Given the description of an element on the screen output the (x, y) to click on. 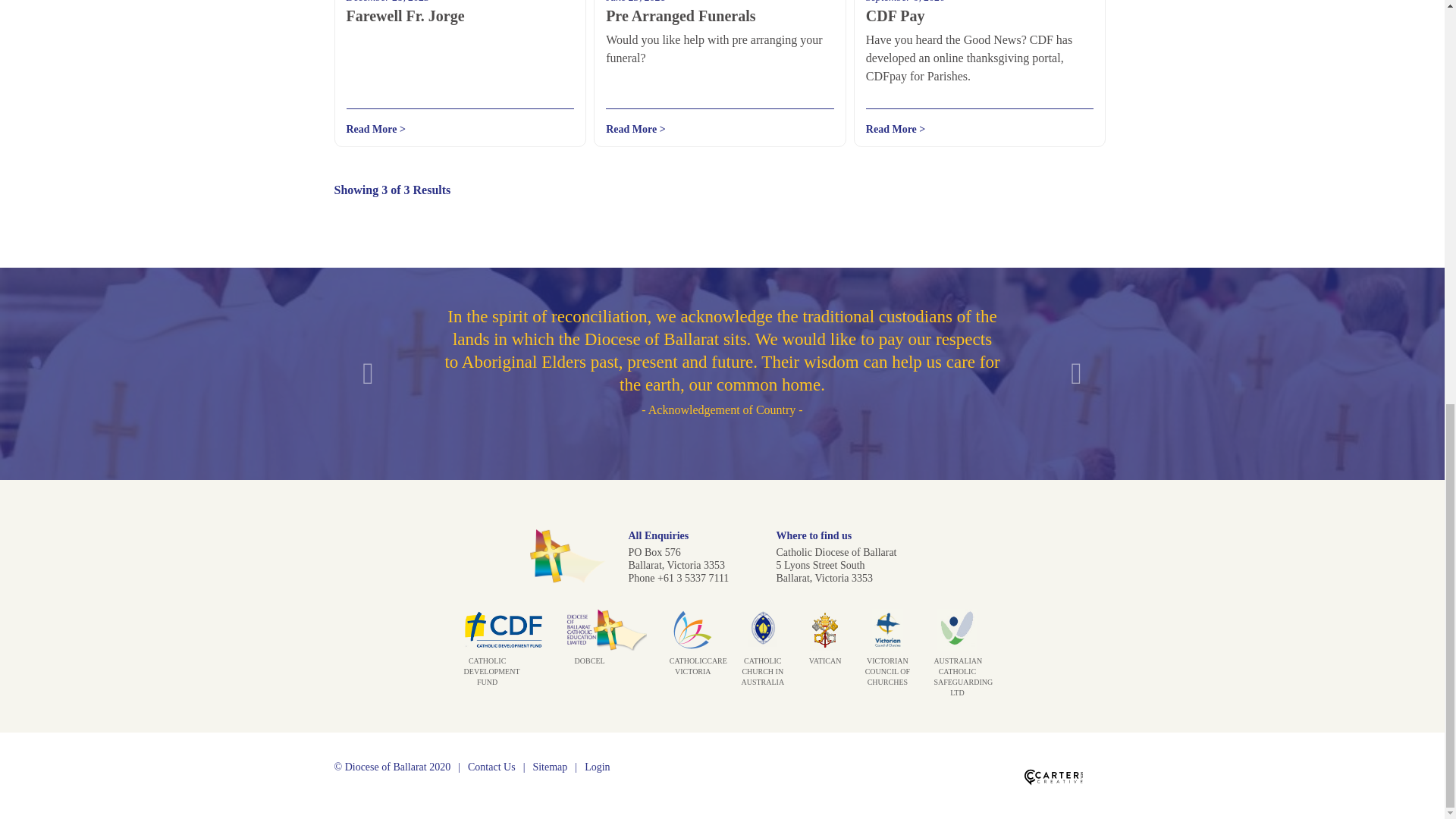
Next (1076, 373)
CATHOLICCARE VICTORIA (692, 658)
DOBCEL (606, 652)
CATHOLIC DEVELOPMENT FUND (503, 663)
Previous (368, 373)
